Given the description of an element on the screen output the (x, y) to click on. 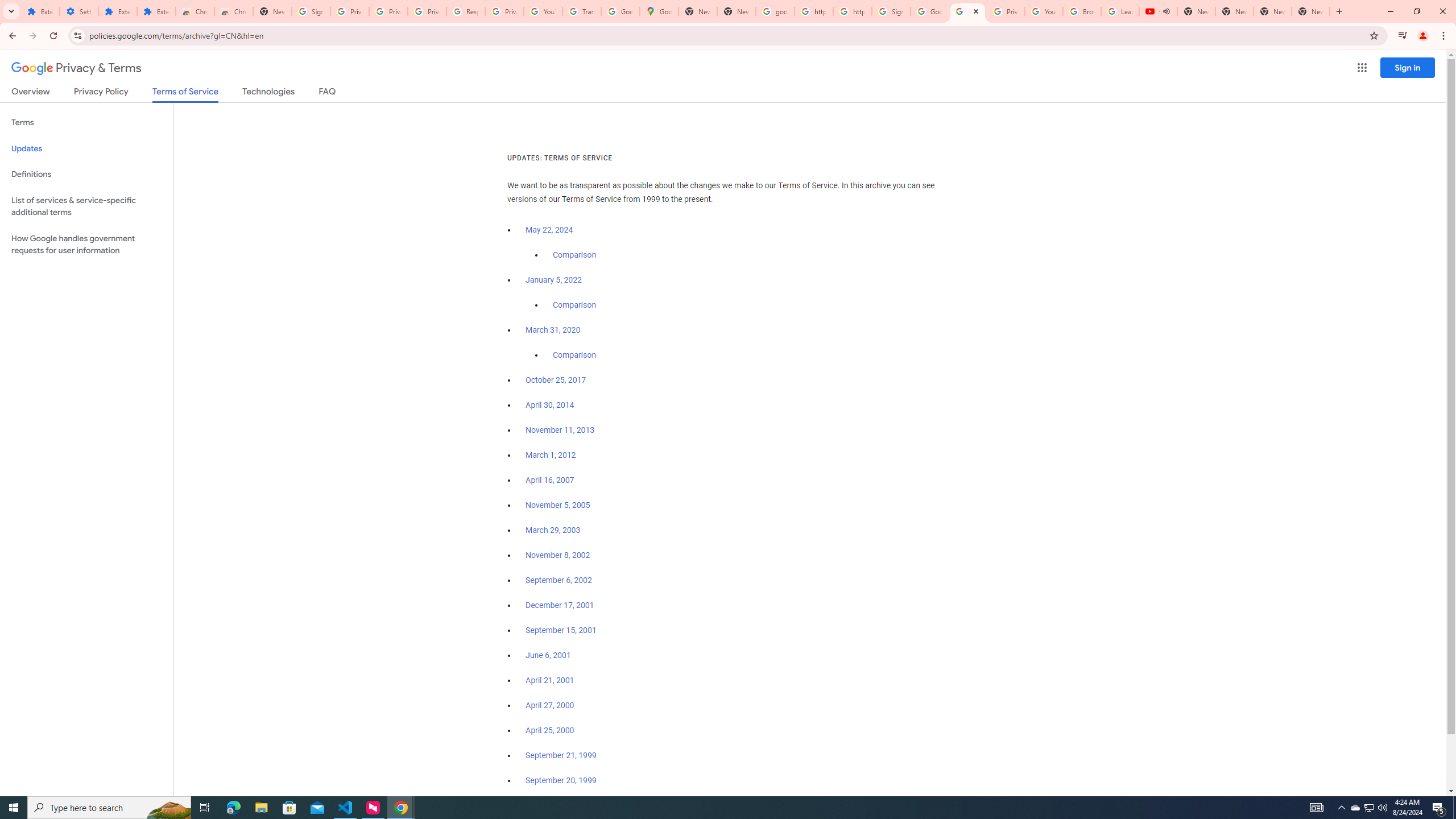
April 30, 2014 (550, 405)
Extensions (156, 11)
September 15, 2001 (560, 629)
How Google handles government requests for user information (86, 244)
Google Maps (659, 11)
